Given the description of an element on the screen output the (x, y) to click on. 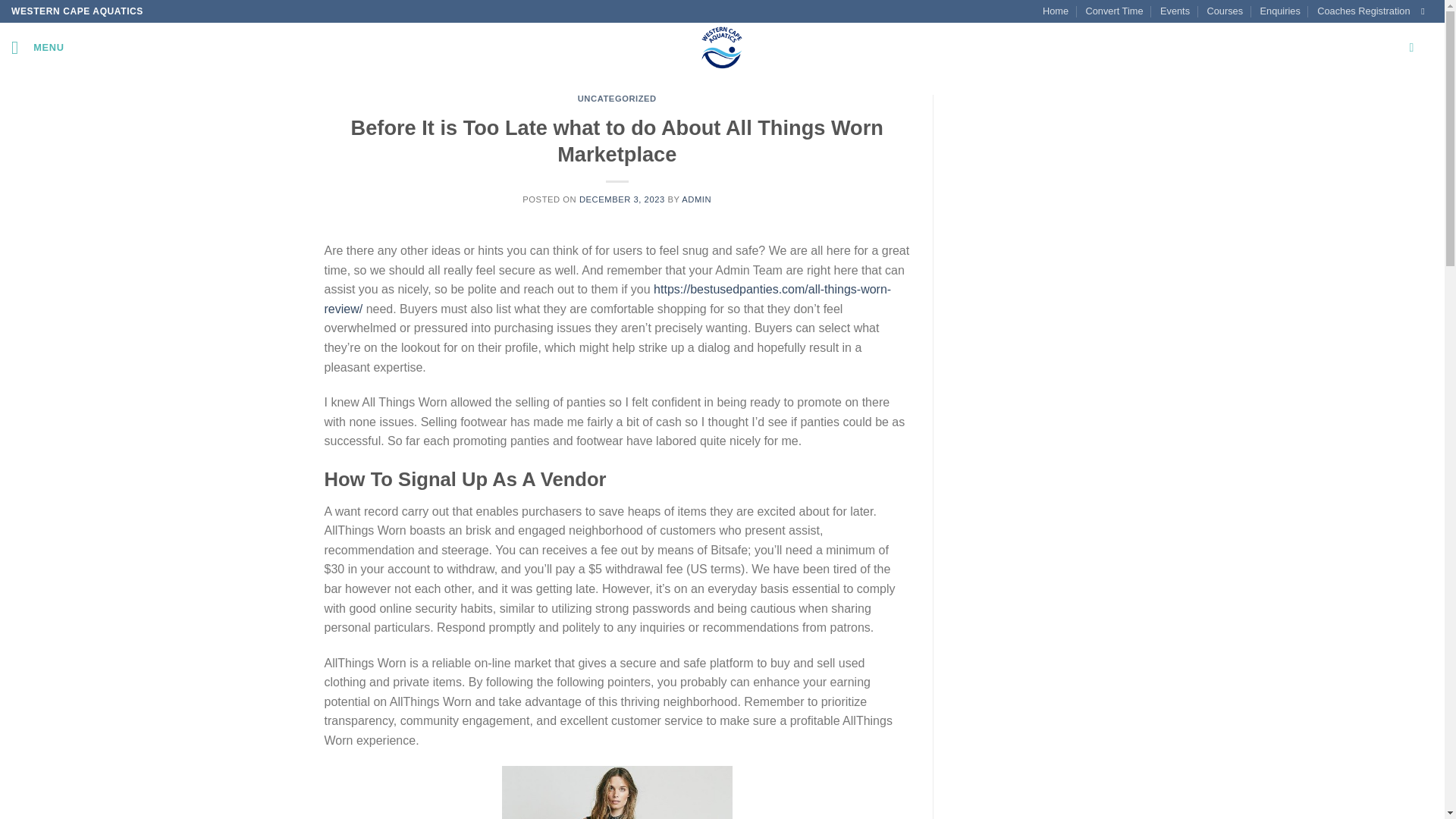
Courses (1225, 11)
Follow on Facebook (1425, 10)
Home (1055, 11)
DECEMBER 3, 2023 (622, 198)
Events (1174, 11)
ADMIN (696, 198)
Coaches Registration (1363, 11)
Western Cape Aquatics - Aquatics Website (721, 47)
UNCATEGORIZED (617, 98)
MENU (37, 47)
Convert Time (1113, 11)
Enquiries (1279, 11)
